Given the description of an element on the screen output the (x, y) to click on. 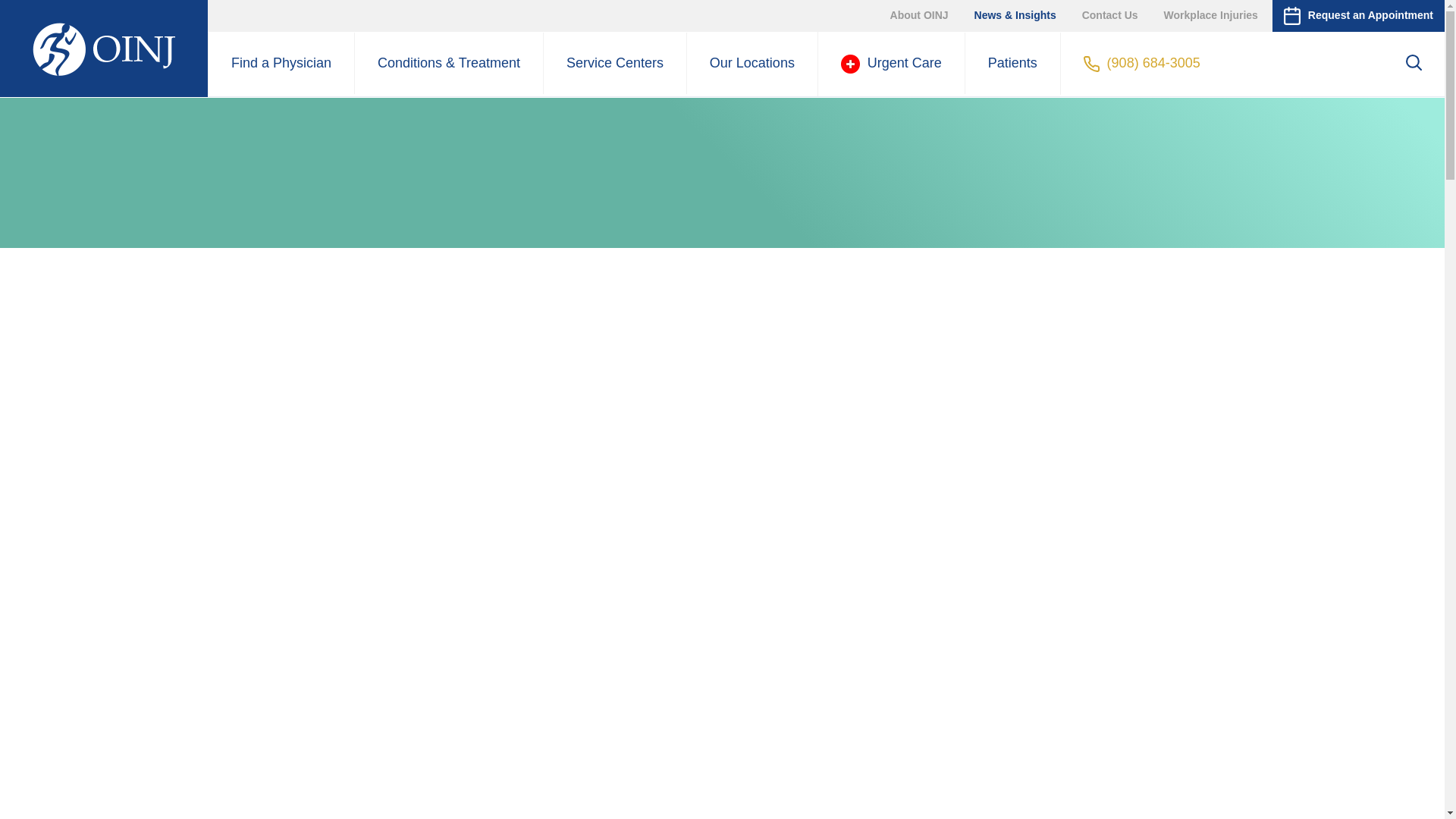
Our Locations (751, 63)
About OINJ (919, 15)
Contact Us (1110, 15)
Find a Physician (280, 63)
Workplace Injuries (1211, 15)
Service Centers (614, 63)
